Given the description of an element on the screen output the (x, y) to click on. 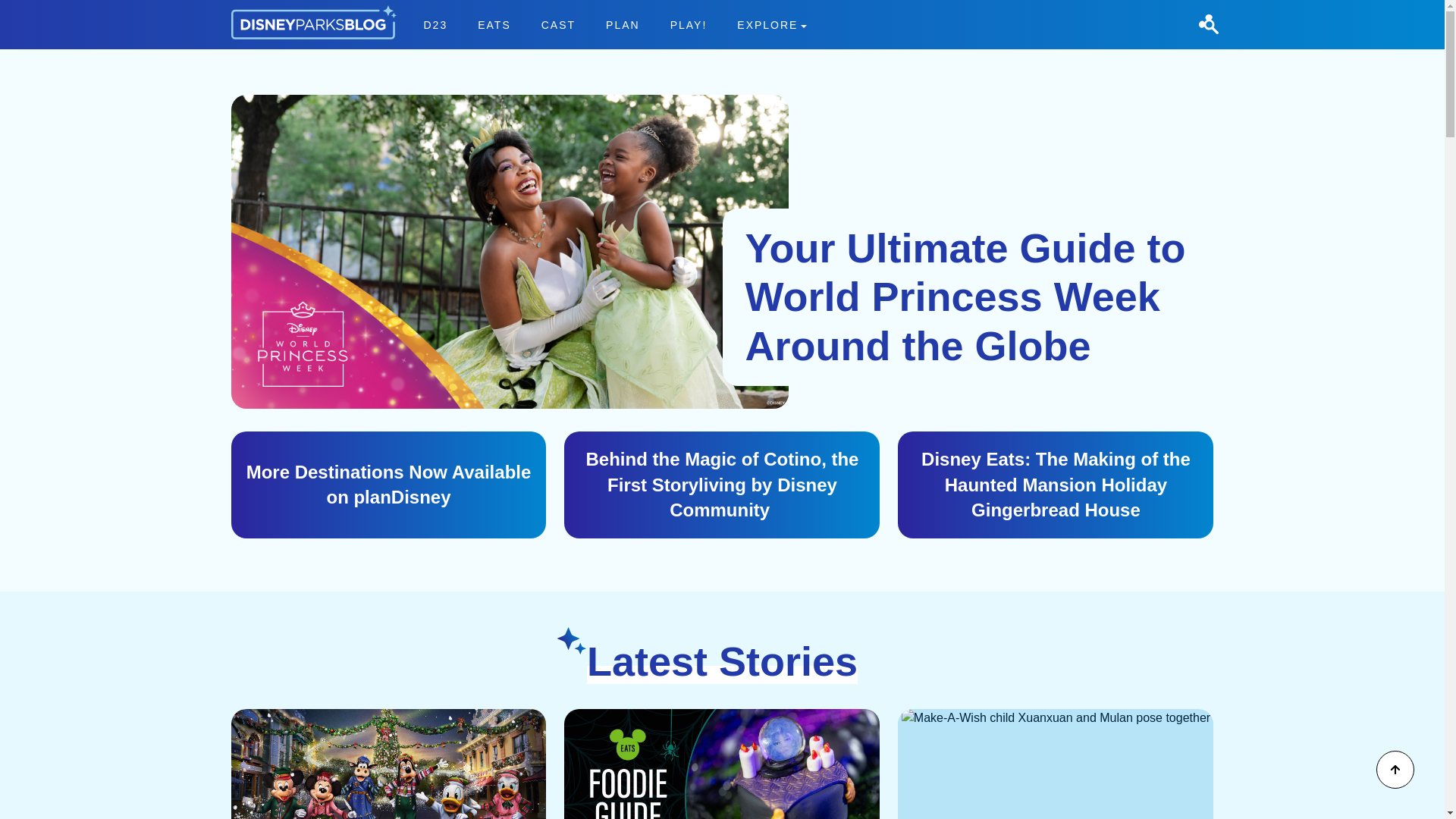
PLAY! (688, 23)
EXPLORE (771, 23)
More Destinations Now Available on planDisney (388, 484)
D23 (614, 23)
EATS (435, 23)
CAST (494, 23)
Skip to content (558, 23)
PLAN (40, 8)
